Given the description of an element on the screen output the (x, y) to click on. 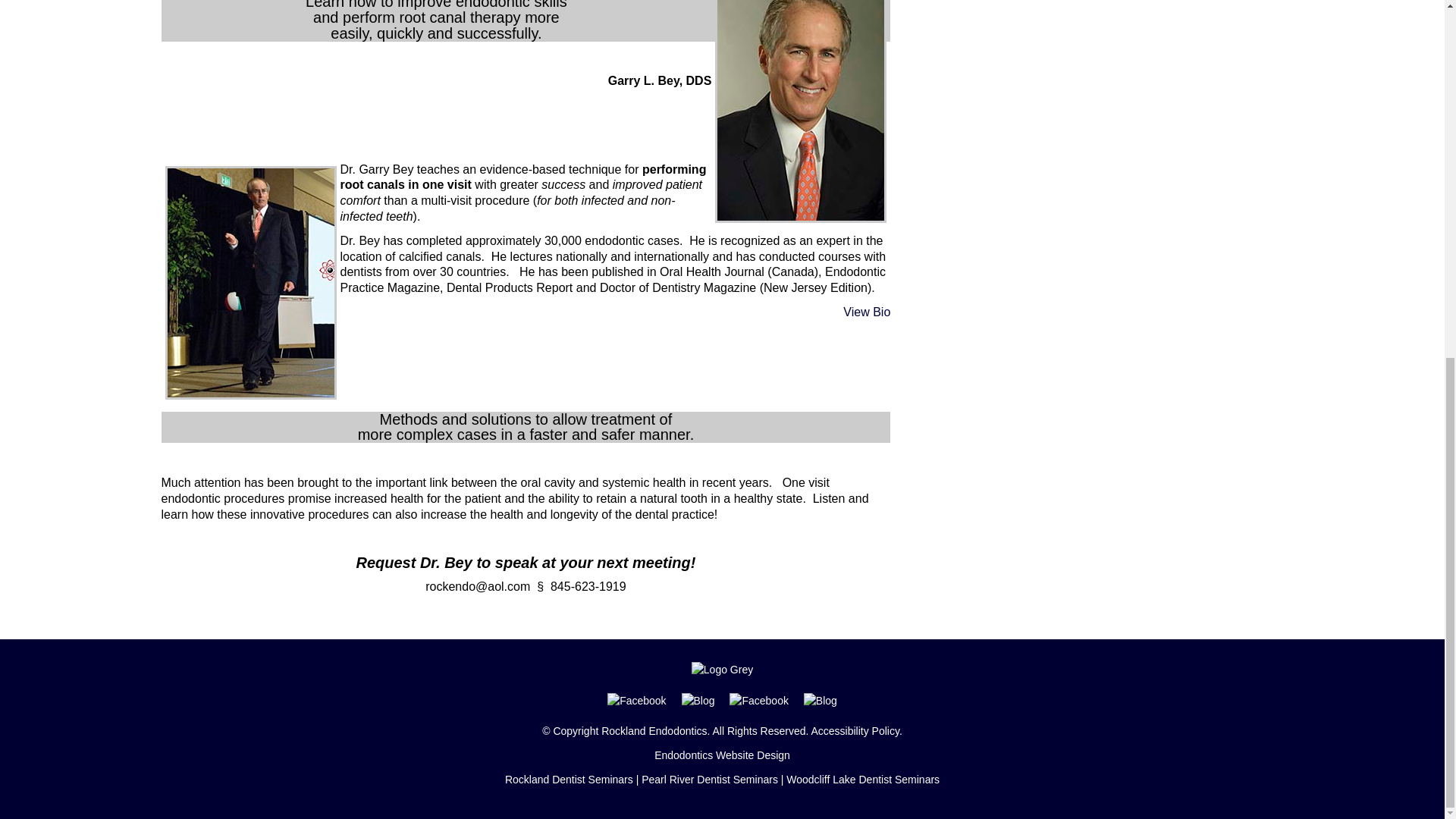
View Bio (866, 312)
Accessibility Policy (854, 730)
Endodontics Website Design (721, 755)
